Given the description of an element on the screen output the (x, y) to click on. 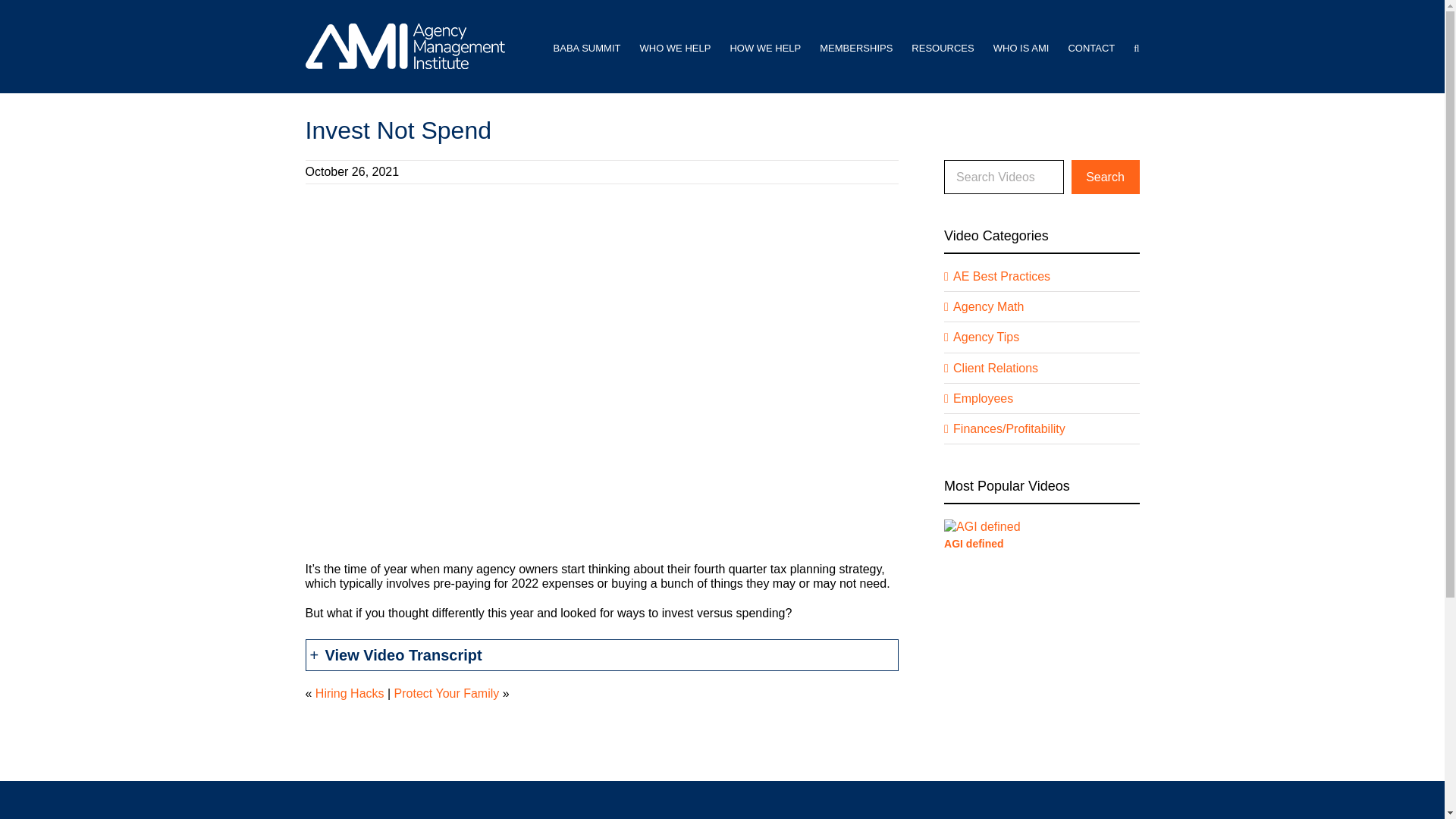
Search Videos (1002, 176)
Search Videos (1002, 176)
Search (1104, 176)
Search (1104, 176)
